Given the description of an element on the screen output the (x, y) to click on. 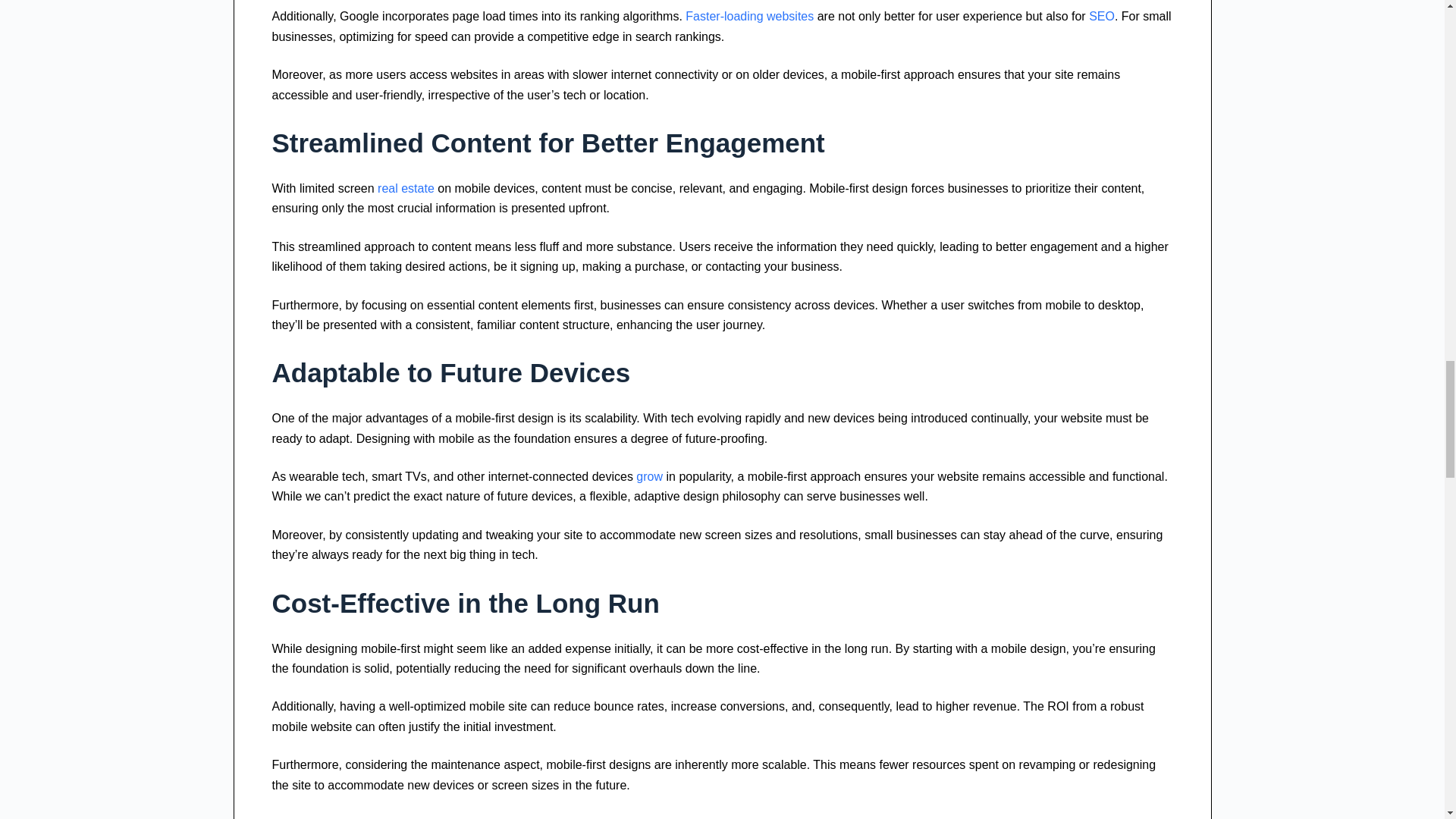
SEO (1102, 15)
grow (649, 476)
Faster-loading websites (749, 15)
real estate (405, 187)
